Given the description of an element on the screen output the (x, y) to click on. 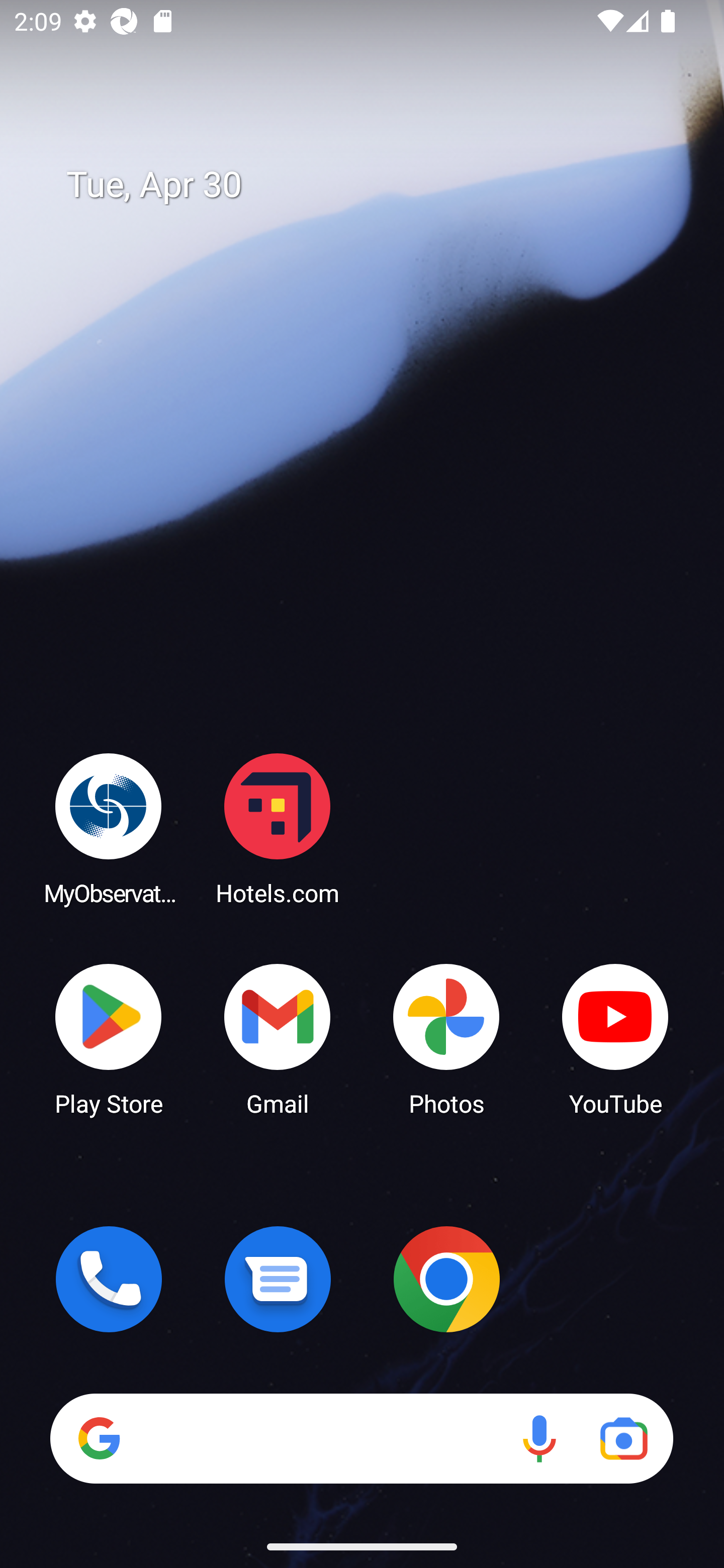
Tue, Apr 30 (375, 184)
MyObservatory (108, 828)
Hotels.com (277, 828)
Play Store (108, 1038)
Gmail (277, 1038)
Photos (445, 1038)
YouTube (615, 1038)
Phone (108, 1279)
Messages (277, 1279)
Chrome (446, 1279)
Voice search (539, 1438)
Google Lens (623, 1438)
